Given the description of an element on the screen output the (x, y) to click on. 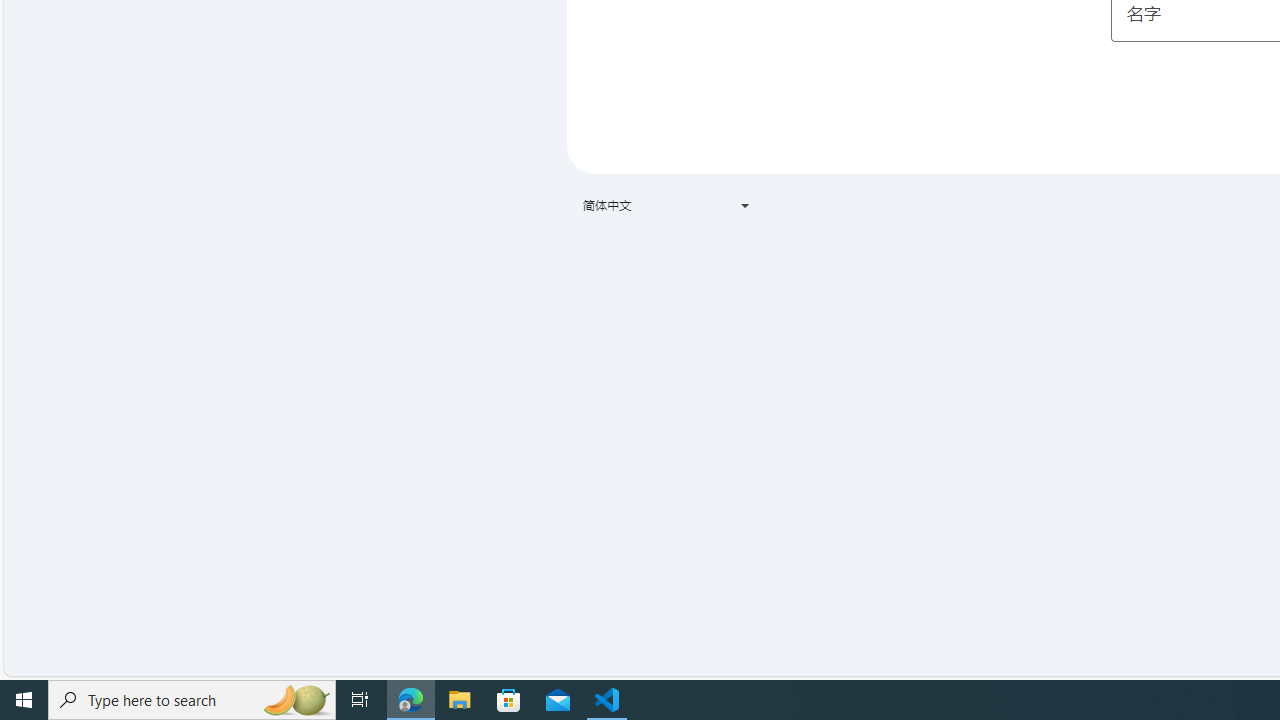
Class: VfPpkd-t08AT-Bz112c-Bd00G (744, 205)
